Given the description of an element on the screen output the (x, y) to click on. 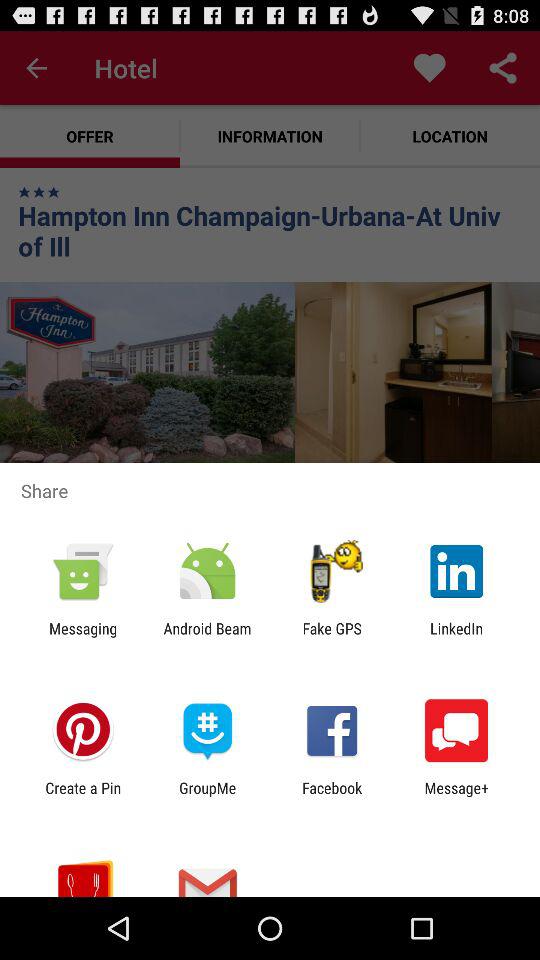
open the facebook item (332, 796)
